Given the description of an element on the screen output the (x, y) to click on. 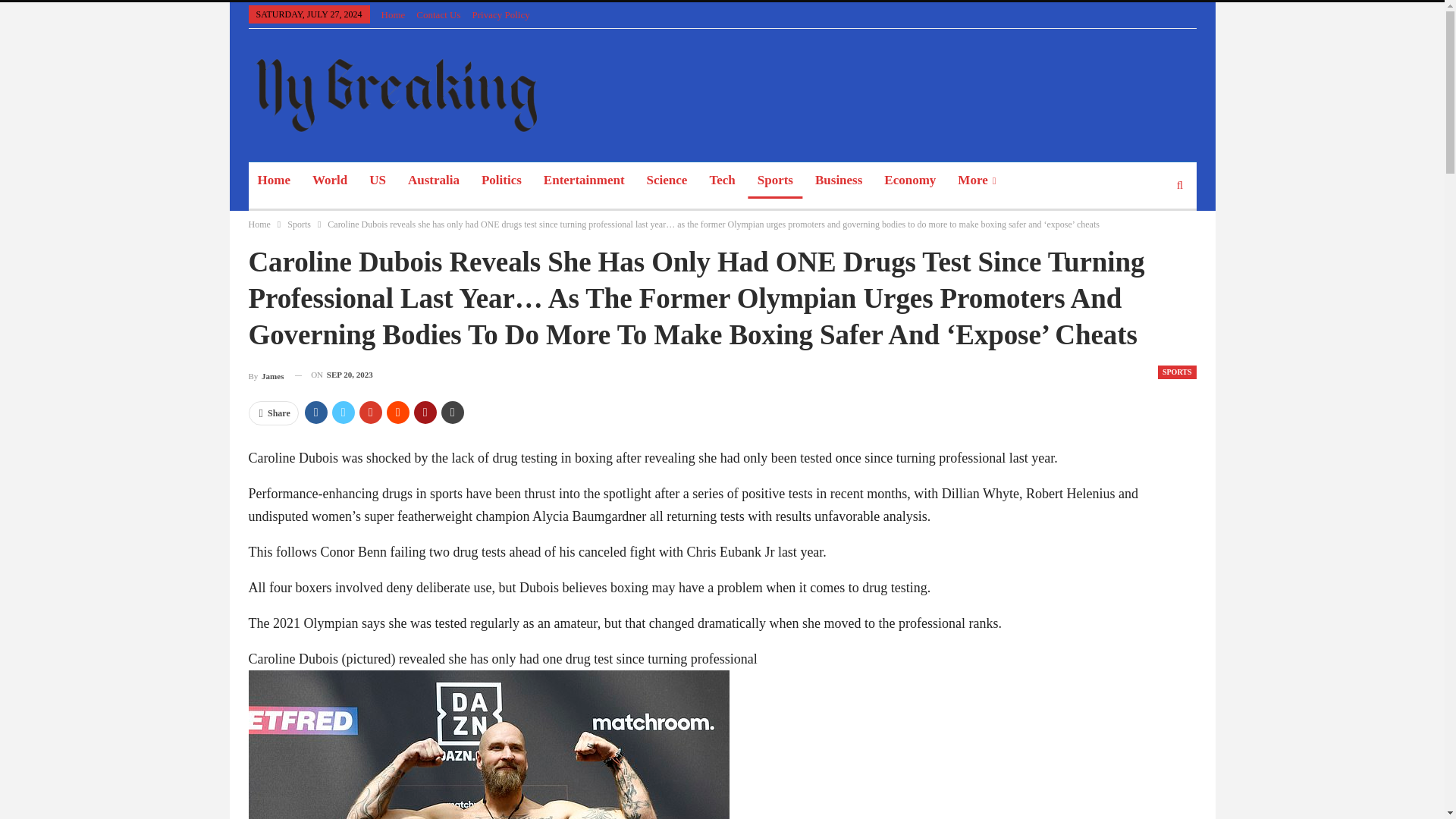
World (329, 180)
Privacy Policy (500, 14)
Contact Us (438, 14)
Australia (433, 180)
Economy (909, 180)
More (976, 180)
Sports (298, 224)
Home (273, 180)
Browse Author Articles (265, 374)
Sports (775, 180)
Science (667, 180)
Tech (722, 180)
Home (259, 224)
Home (393, 14)
SPORTS (1176, 372)
